Given the description of an element on the screen output the (x, y) to click on. 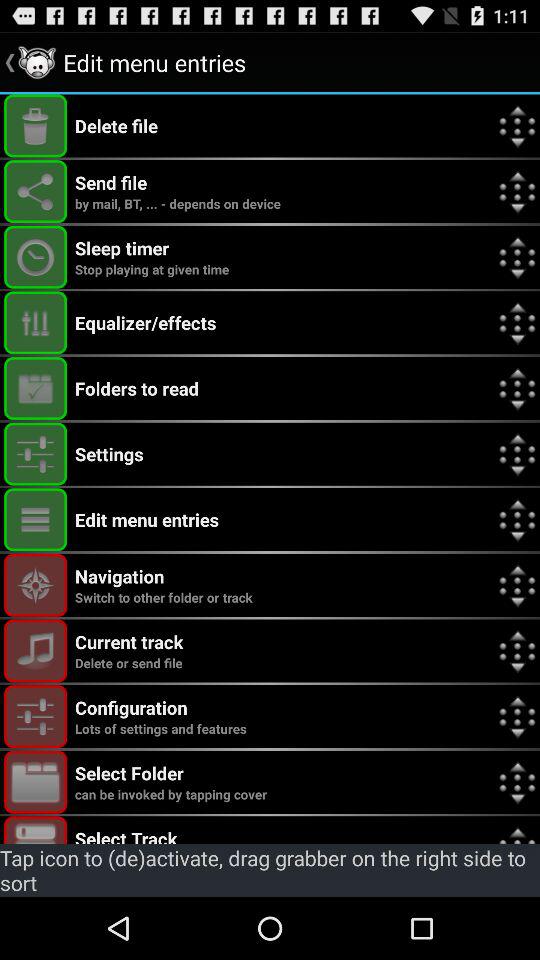
equalizer option (35, 322)
